Given the description of an element on the screen output the (x, y) to click on. 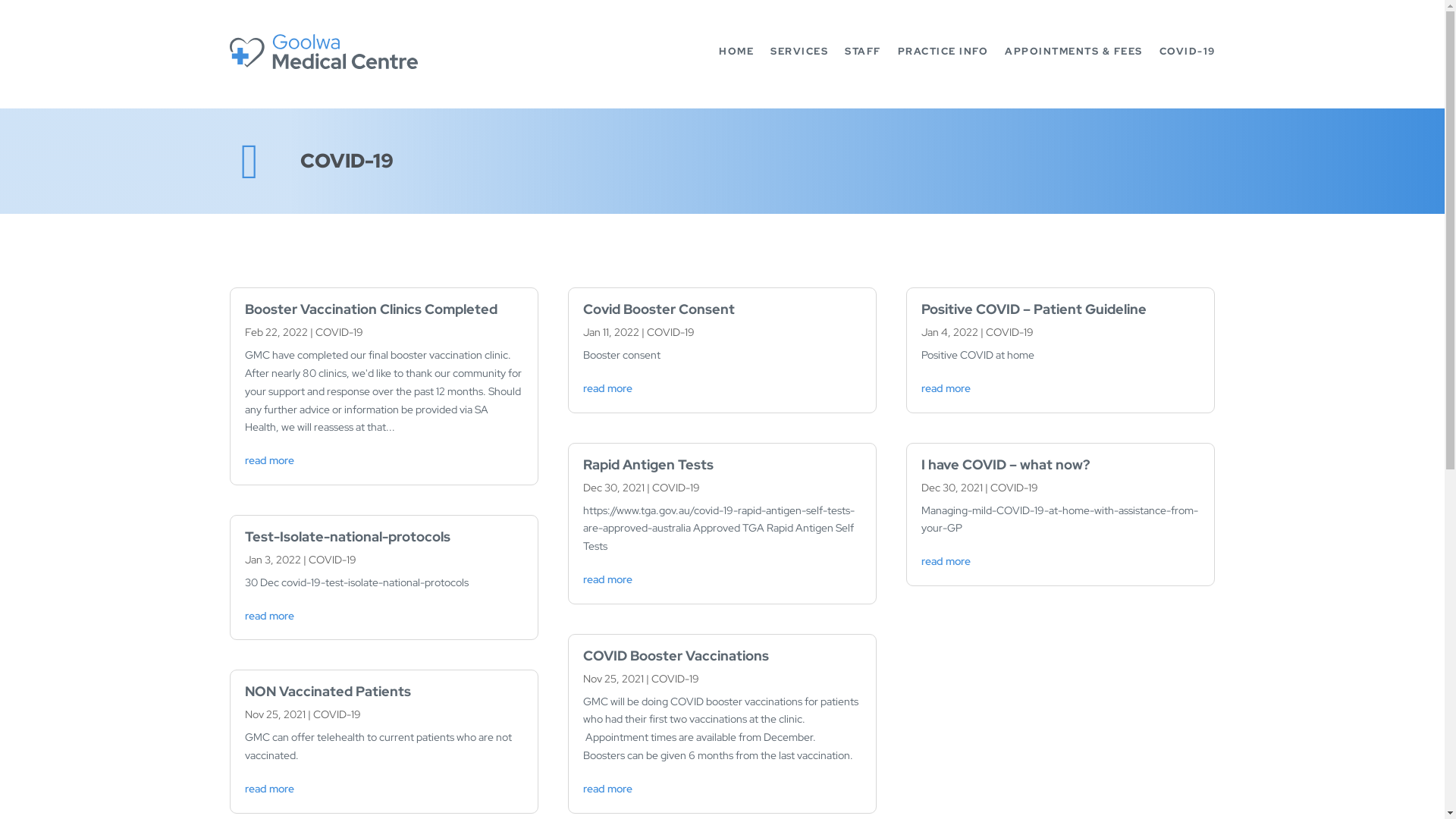
read more Element type: text (607, 788)
Booster Vaccination Clinics Completed Element type: text (370, 308)
COVID-19 Element type: text (675, 487)
COVID-19 Element type: text (1014, 487)
COVID-19 Element type: text (675, 678)
COVID-19 Element type: text (670, 331)
APPOINTMENTS & FEES Element type: text (1073, 51)
STAFF Element type: text (862, 51)
COVID-19 Element type: text (1186, 51)
read more Element type: text (268, 615)
COVID-19 Element type: text (336, 714)
COVID-19 Element type: text (339, 331)
PRACTICE INFO Element type: text (942, 51)
Covid Booster Consent Element type: text (658, 308)
read more Element type: text (268, 788)
COVID-19 Element type: text (331, 559)
read more Element type: text (945, 388)
COVID-19 Element type: text (1009, 331)
COVID Booster Vaccinations Element type: text (675, 655)
Test-Isolate-national-protocols Element type: text (346, 536)
HOME Element type: text (735, 51)
SERVICES Element type: text (799, 51)
read more Element type: text (607, 388)
read more Element type: text (945, 560)
read more Element type: text (607, 579)
NON Vaccinated Patients Element type: text (327, 690)
Rapid Antigen Tests Element type: text (648, 464)
read more Element type: text (268, 460)
